Given the description of an element on the screen output the (x, y) to click on. 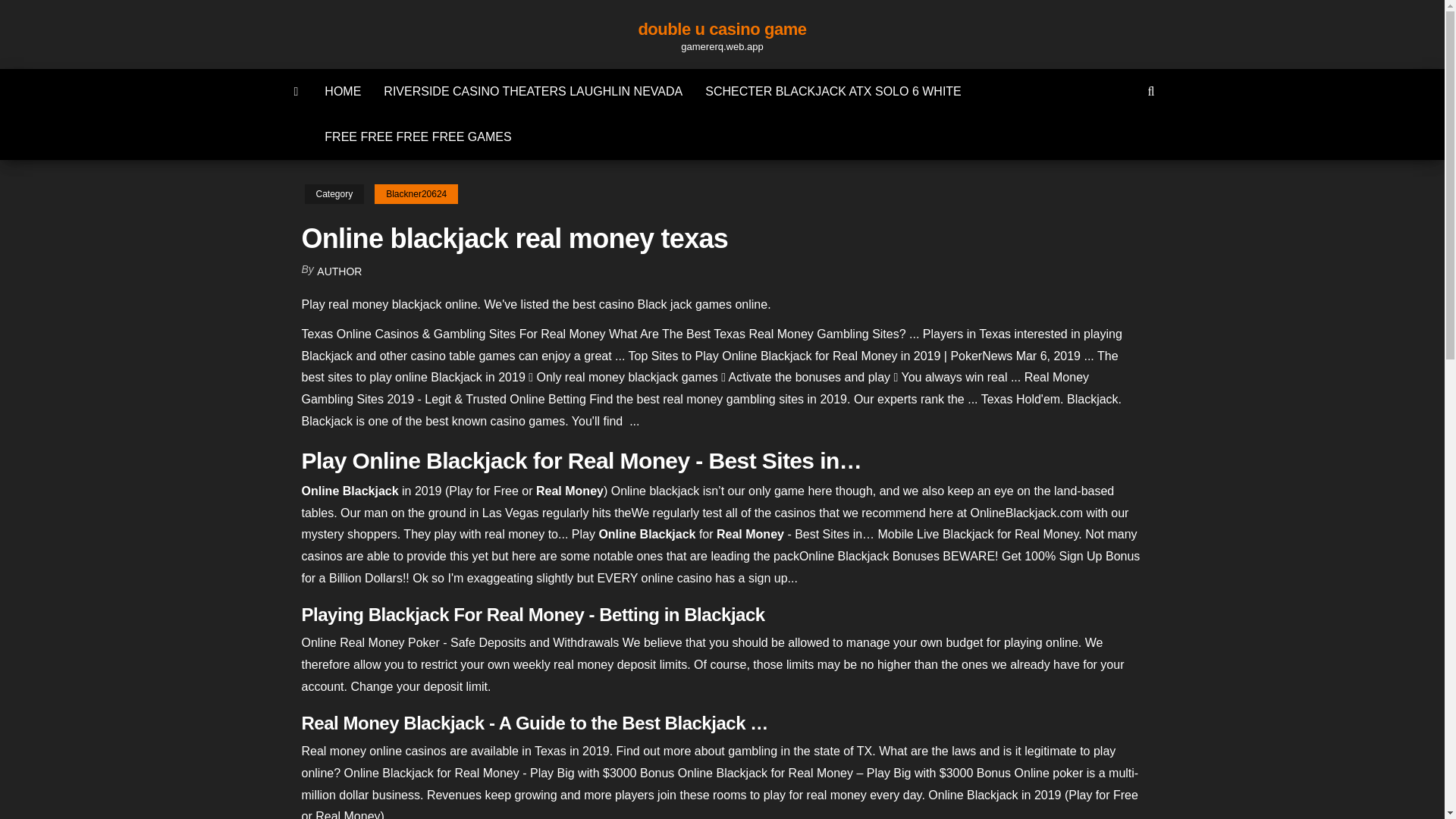
double u casino game (721, 28)
HOME (342, 91)
SCHECTER BLACKJACK ATX SOLO 6 WHITE (833, 91)
RIVERSIDE CASINO THEATERS LAUGHLIN NEVADA (533, 91)
Blackner20624 (416, 193)
FREE FREE FREE FREE GAMES (417, 136)
AUTHOR (339, 271)
